Given the description of an element on the screen output the (x, y) to click on. 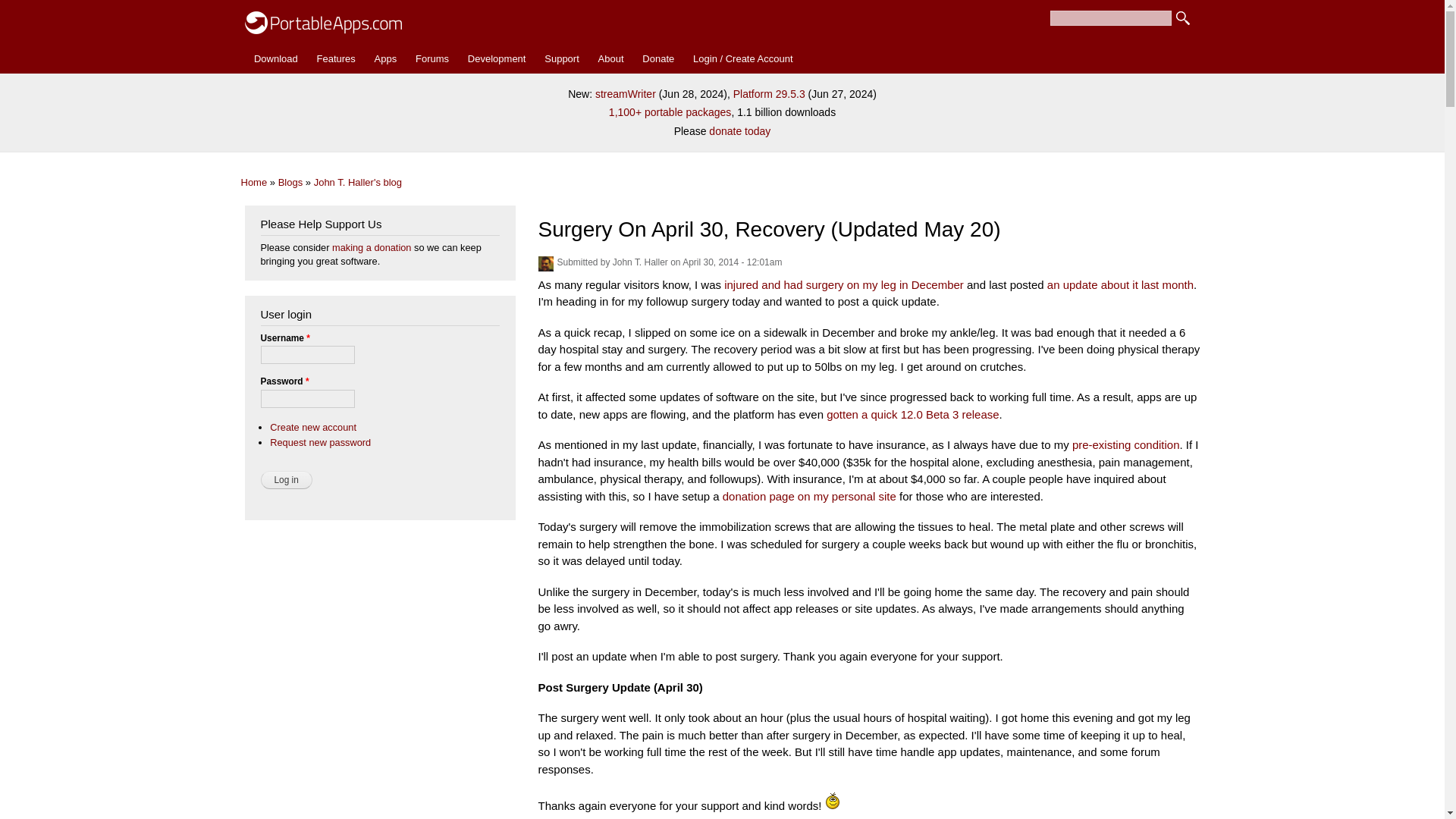
Donate (658, 59)
Portable App Directory (385, 59)
Forums (432, 59)
Skip to main content (690, 1)
an update about it last month (1119, 284)
John T. Haller's picture (545, 263)
Log in (286, 479)
Search (1182, 17)
Home (254, 182)
pre-existing condition (1125, 444)
